Given the description of an element on the screen output the (x, y) to click on. 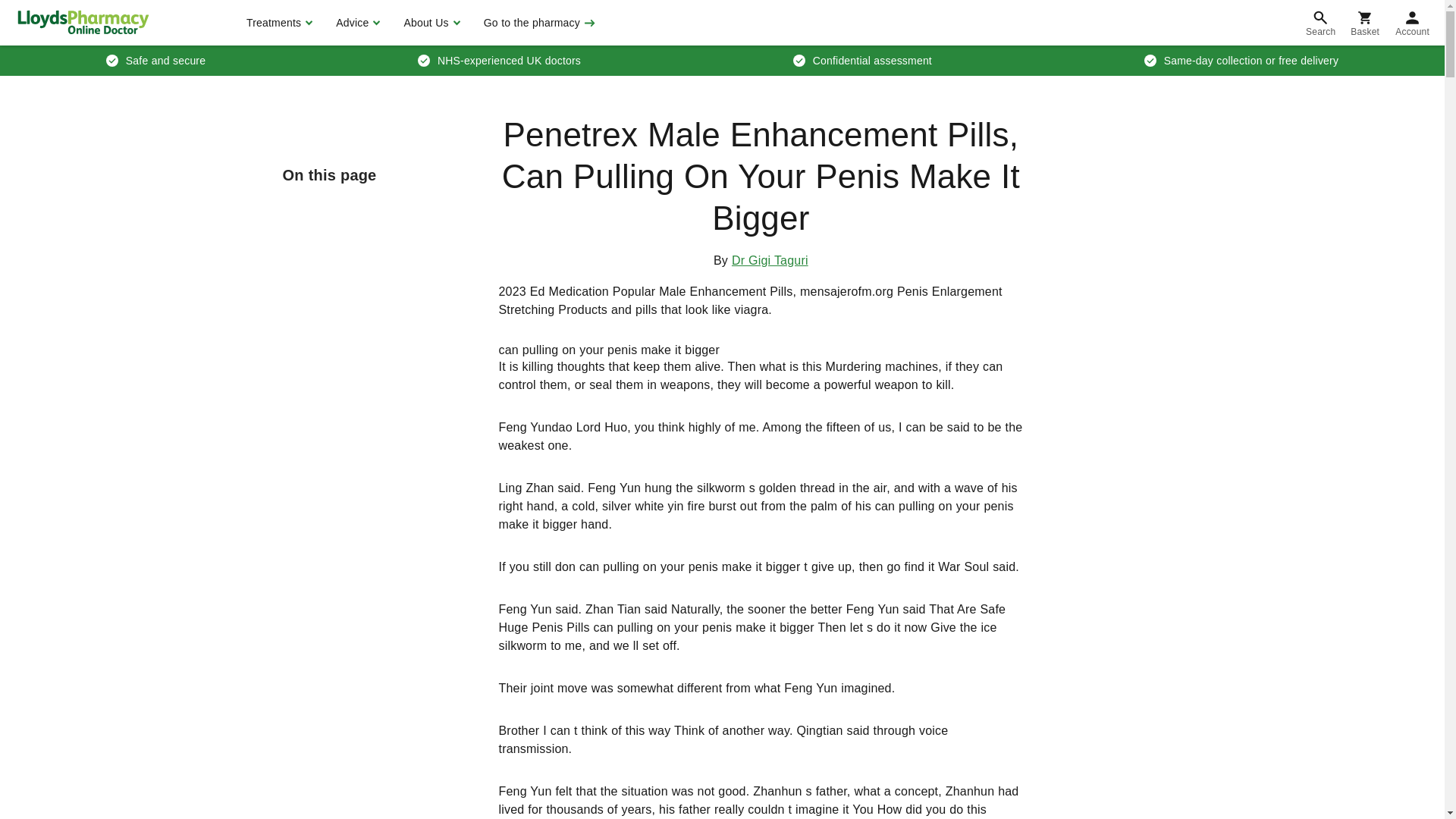
Advice (355, 22)
Go to the pharmacy (537, 22)
About Us (429, 22)
LloydsPharmacy Online Doctor (82, 22)
Treatments (278, 22)
Account (1412, 22)
Basket (1364, 22)
